Given the description of an element on the screen output the (x, y) to click on. 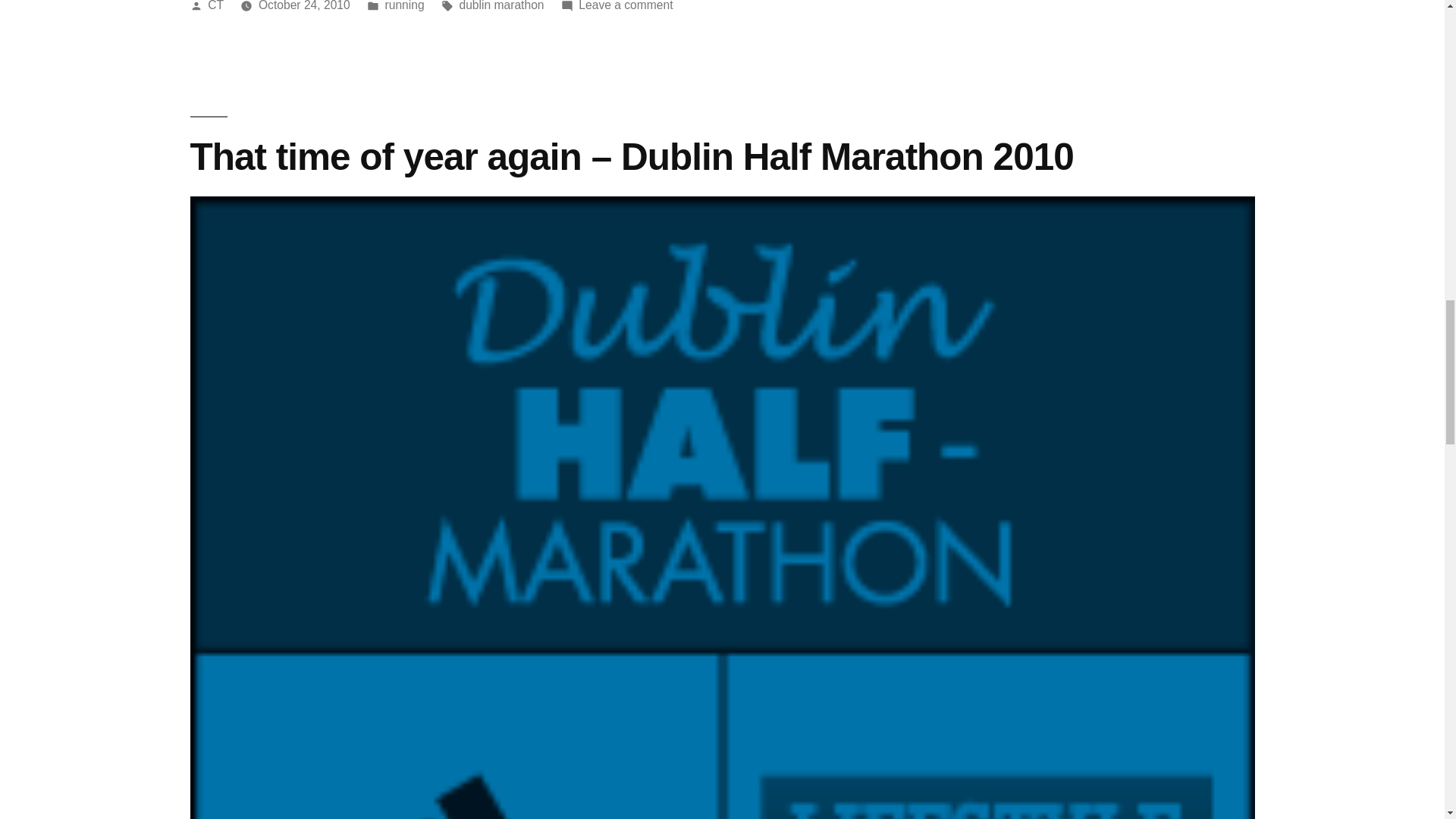
CT (216, 5)
October 24, 2010 (304, 5)
running (405, 5)
dublin marathon (500, 5)
